Given the description of an element on the screen output the (x, y) to click on. 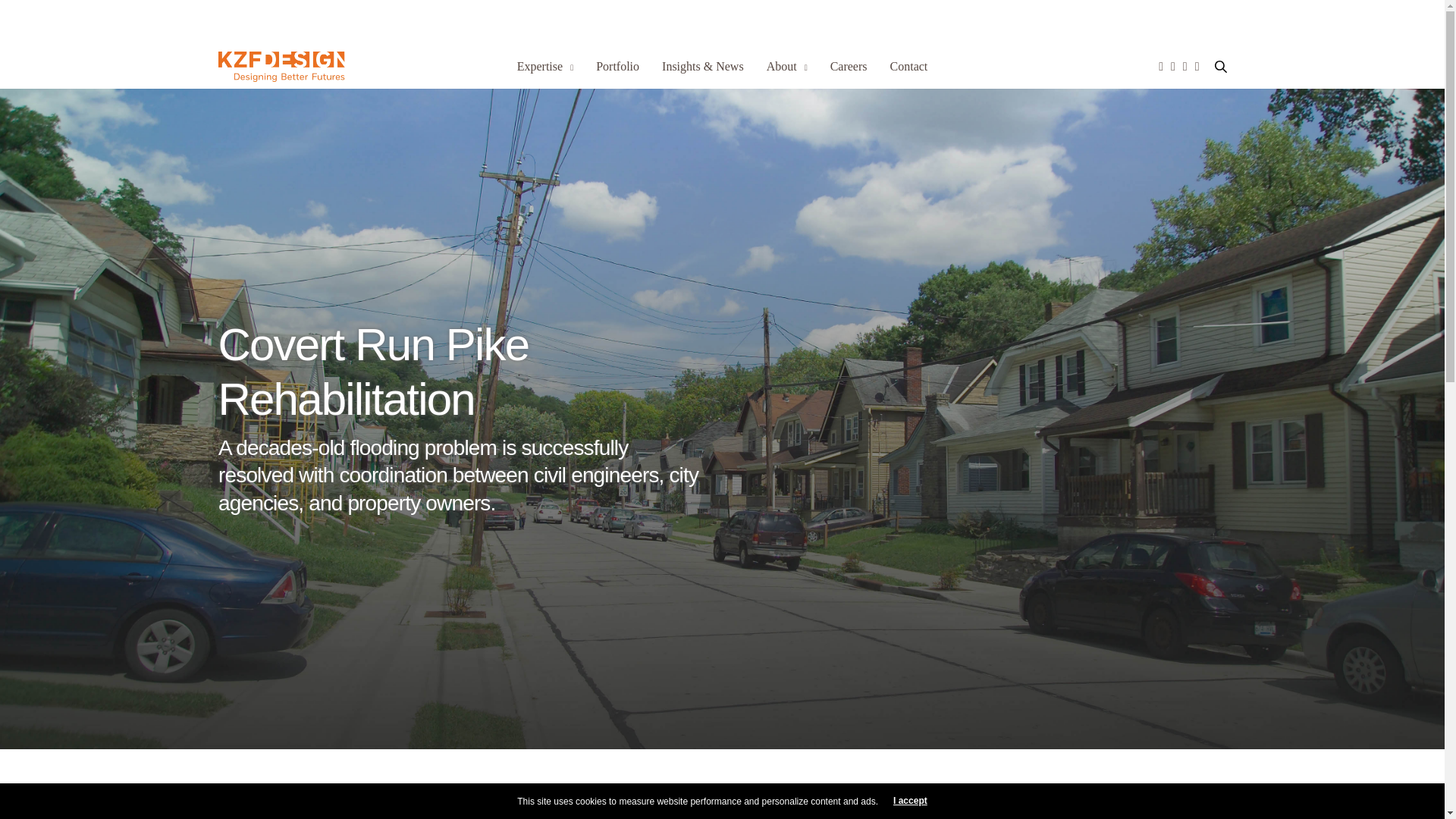
Portfolio (617, 66)
About (787, 66)
Expertise (544, 66)
Contact (908, 66)
